Given the description of an element on the screen output the (x, y) to click on. 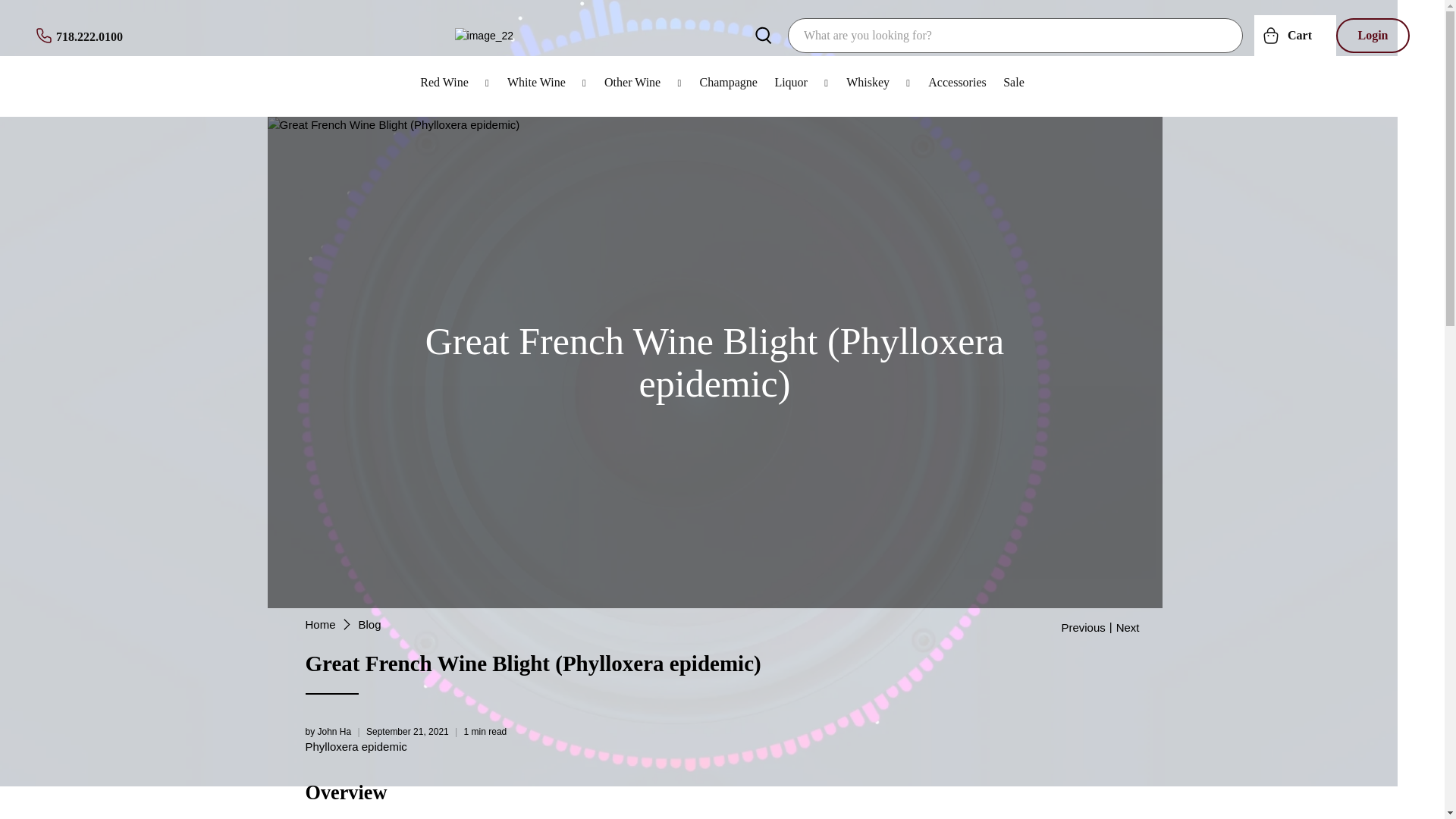
Previous (1083, 627)
Blog (369, 624)
TheLiquorStore.com (319, 624)
Next (1128, 627)
Cart (1294, 35)
Liquor (801, 82)
White Wine (547, 82)
Red Wine (455, 82)
Other Wine (642, 82)
Login (1372, 35)
718.222.0100 (78, 35)
Champagne (727, 82)
